Given the description of an element on the screen output the (x, y) to click on. 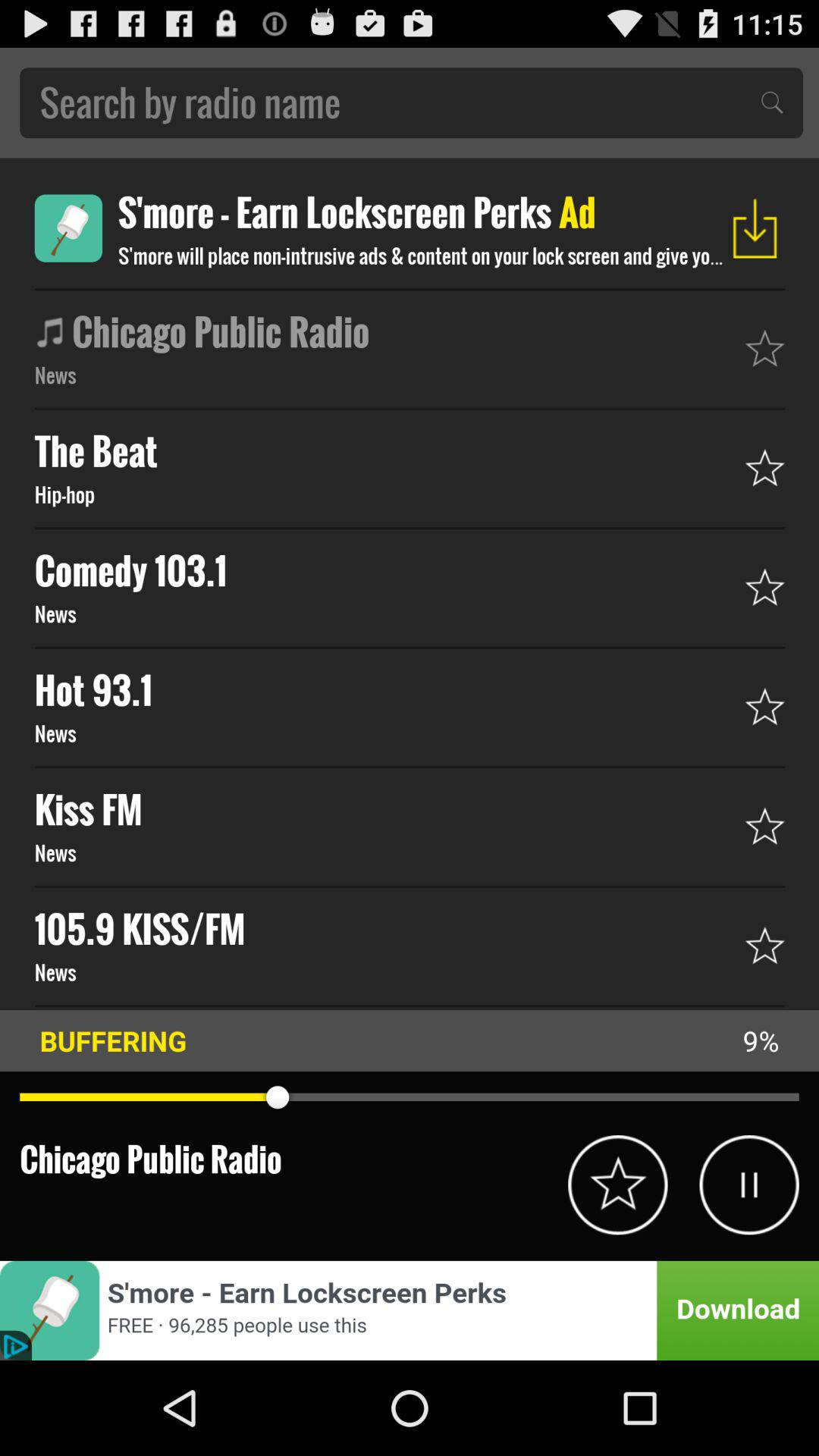
download the advertisement (754, 228)
